Given the description of an element on the screen output the (x, y) to click on. 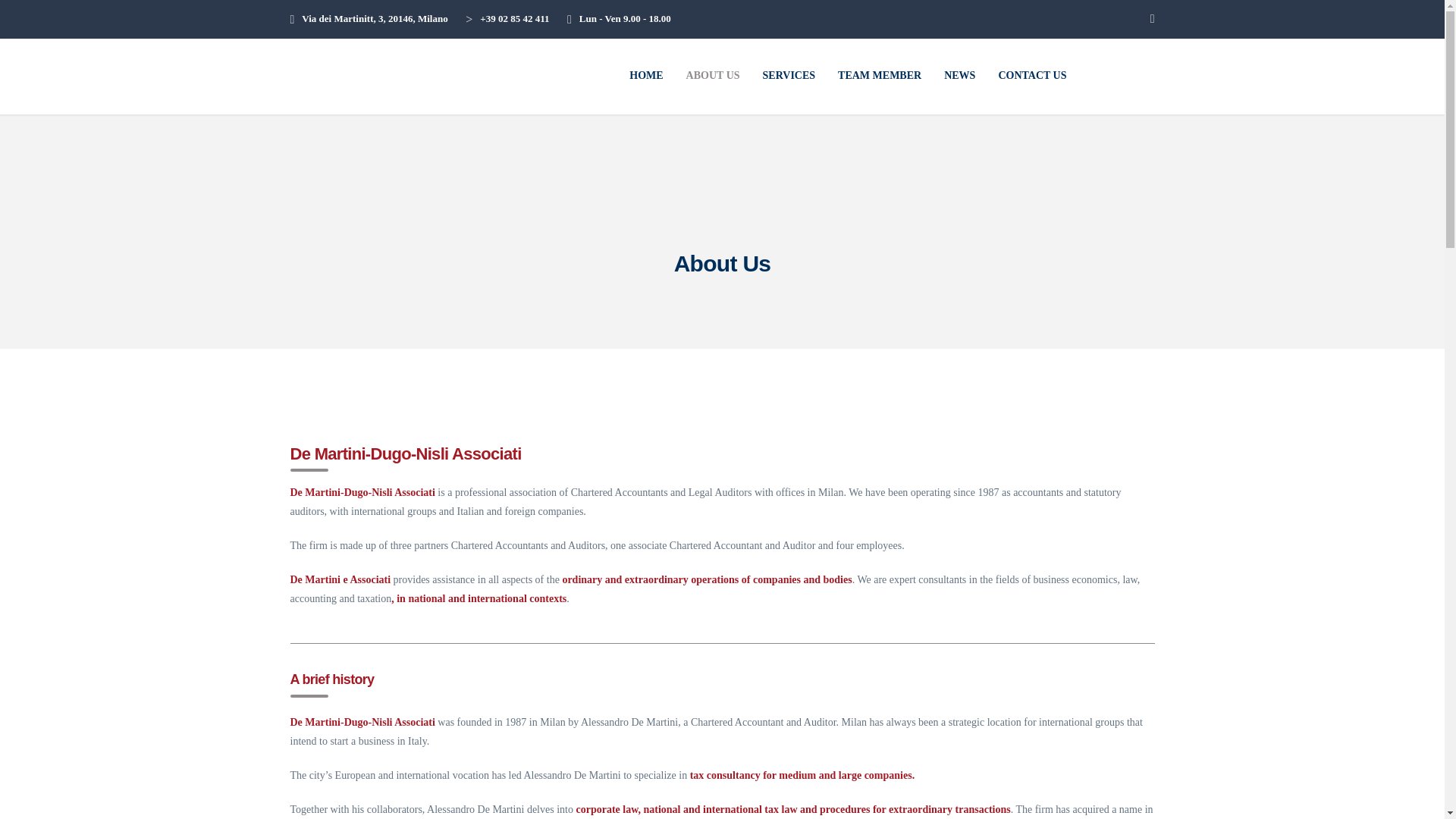
CONTACT US (1032, 75)
Italiano (1095, 73)
TEAM MEMBER (880, 75)
HOME (645, 75)
SERVICES (789, 75)
NEWS (960, 75)
English (1131, 73)
ABOUT US (713, 75)
